Given the description of an element on the screen output the (x, y) to click on. 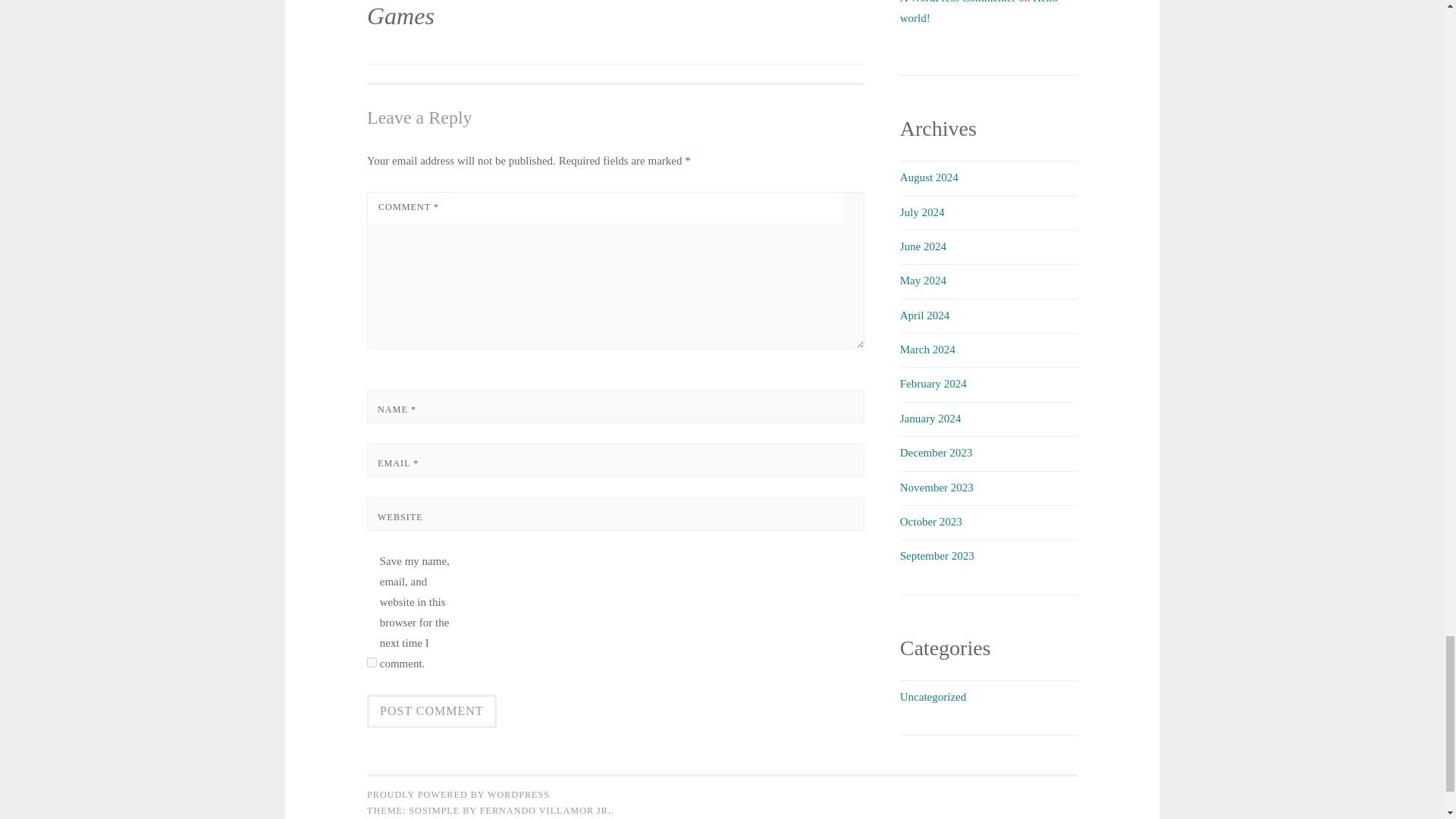
Post Comment (431, 711)
yes (371, 662)
Online Gambling Establishment Play Ports, Table Video Games (490, 27)
Post Comment (431, 711)
